Given the description of an element on the screen output the (x, y) to click on. 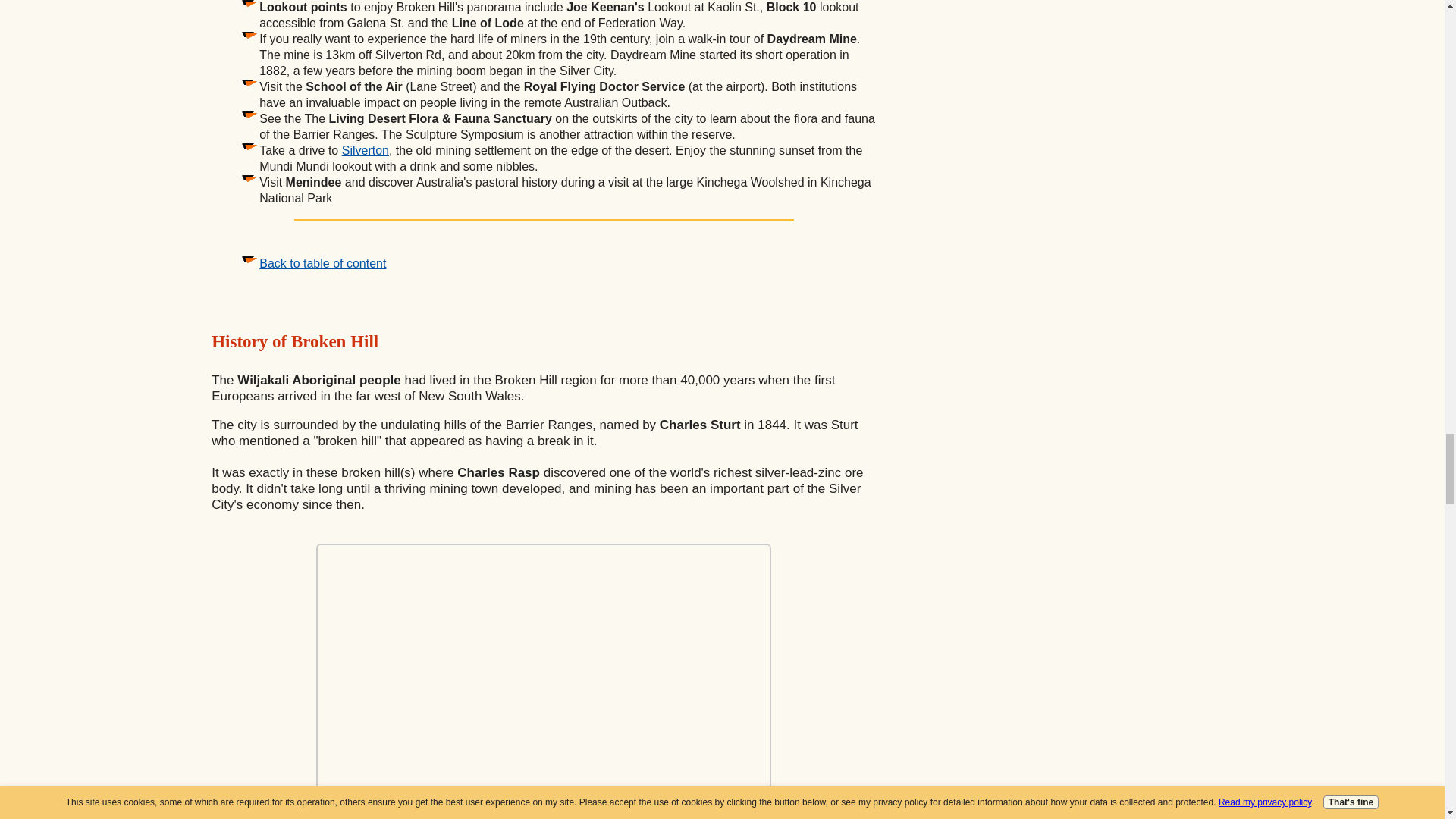
The old north mine seen from the Junction mine (543, 681)
